Given the description of an element on the screen output the (x, y) to click on. 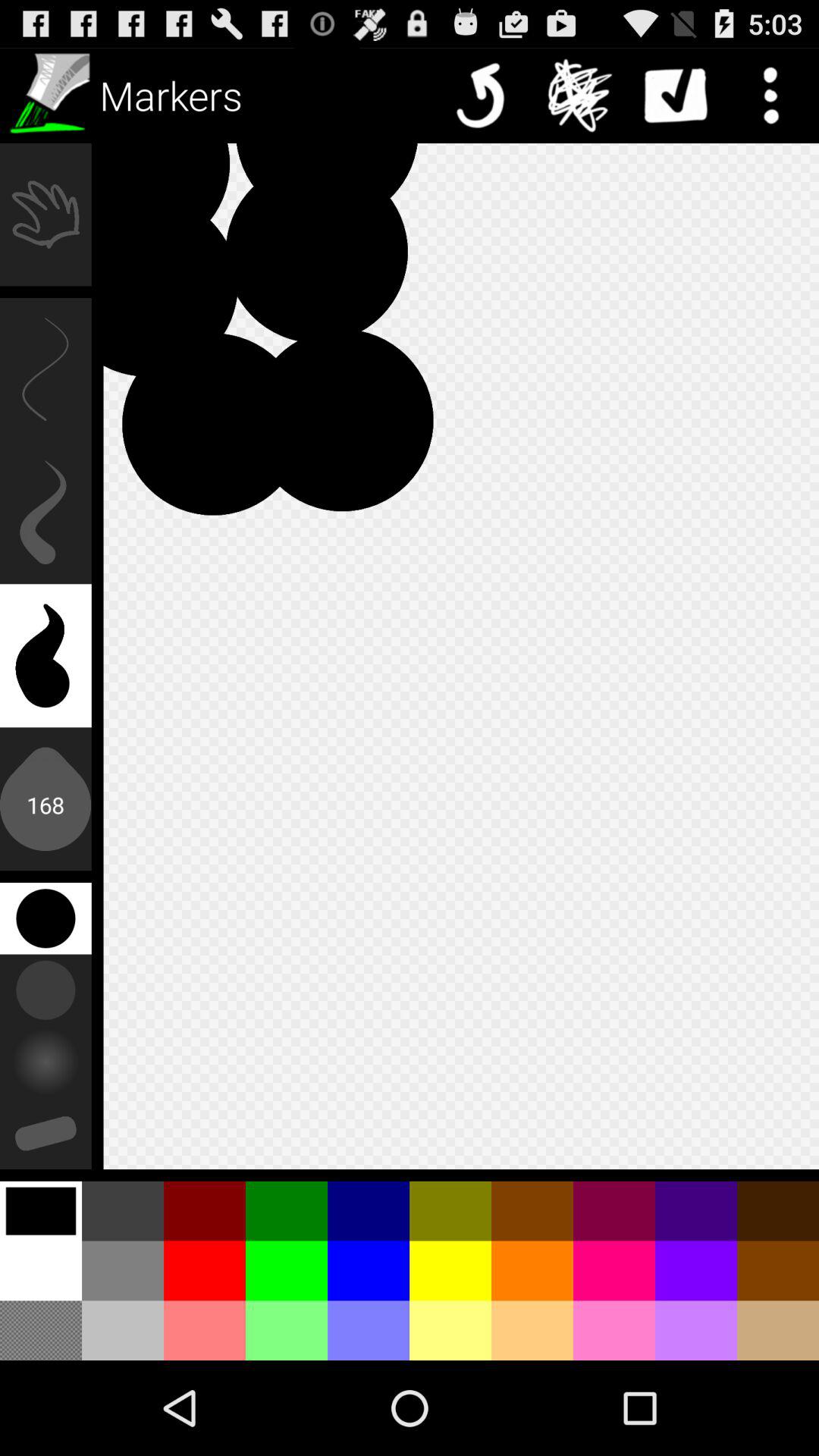
markers (47, 95)
